Given the description of an element on the screen output the (x, y) to click on. 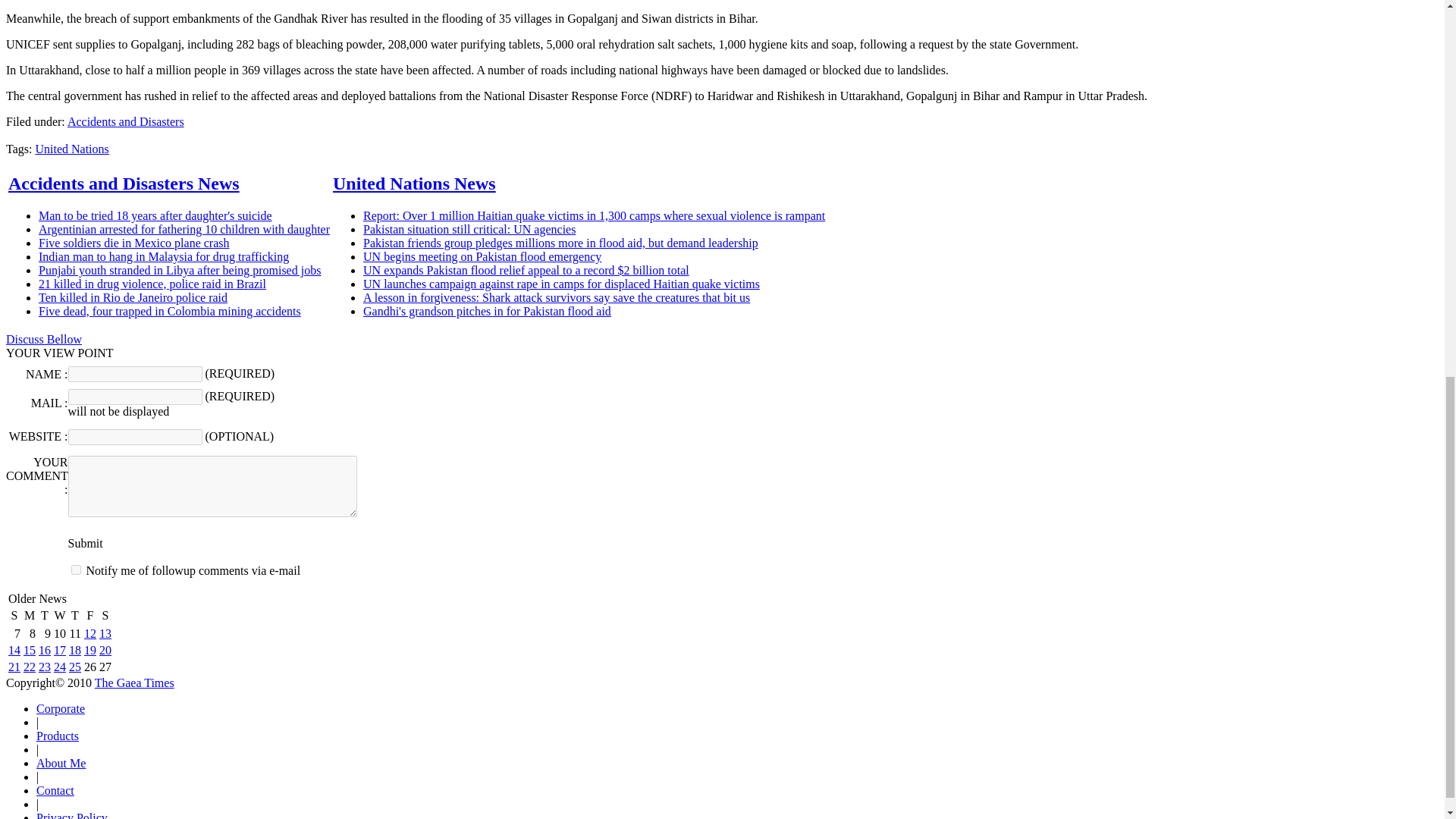
Man to be tried 18 years after daughter's suicide (155, 215)
Punjabi youth stranded in Libya after being promised jobs (179, 269)
subscribe (76, 569)
Accidents and Disasters (125, 121)
Accidents and Disasters News (124, 183)
Indian man to hang in Malaysia for drug trafficking (163, 256)
United Nations (70, 148)
Five soldiers die in Mexico plane crash (134, 242)
Argentinian arrested for fathering 10 children with daughter (184, 228)
